Given the description of an element on the screen output the (x, y) to click on. 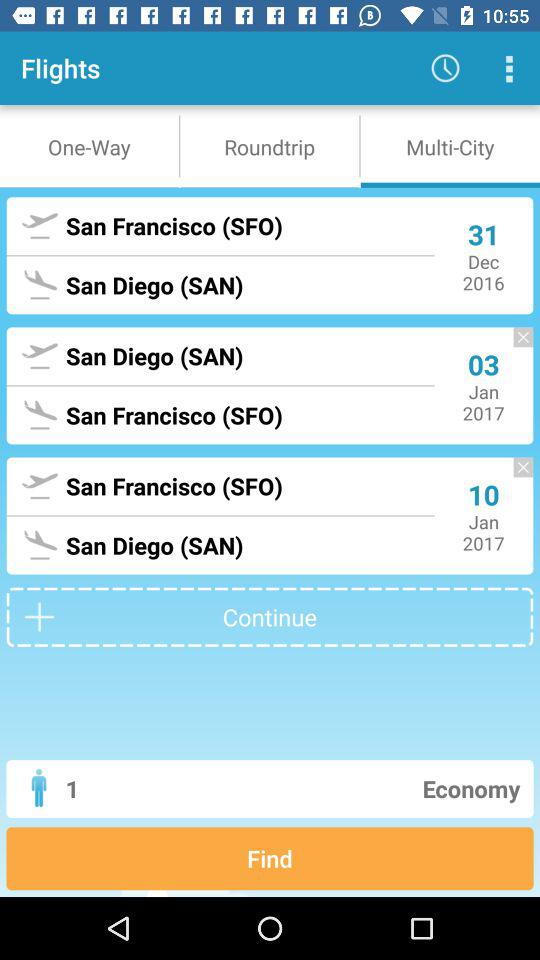
close (513, 476)
